Given the description of an element on the screen output the (x, y) to click on. 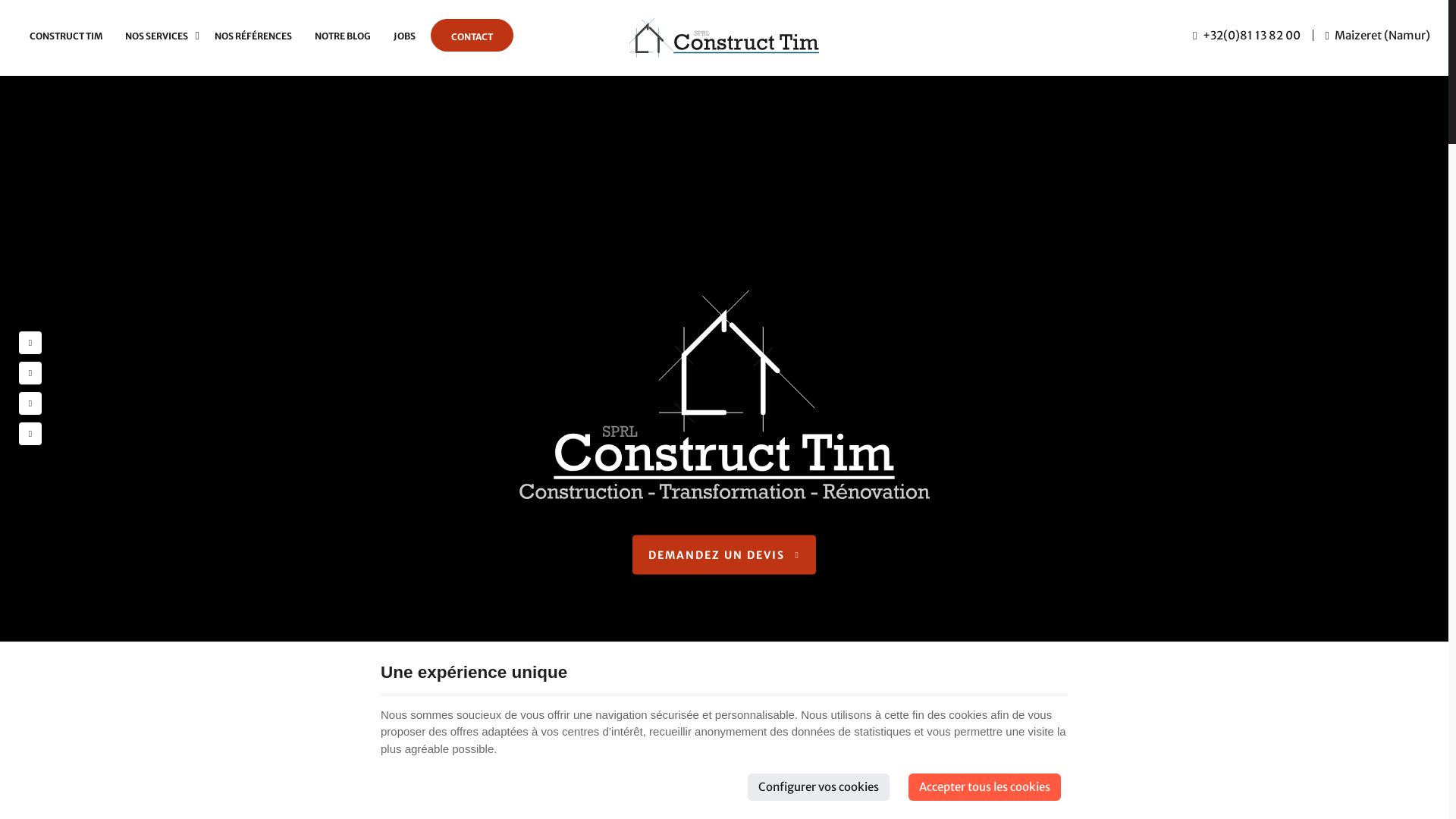
DEMANDEZ UN DEVIS Element type: text (723, 554)
Accepter tous les cookies Element type: text (984, 786)
+32(0)81 13 82 00 Element type: text (1245, 34)
NOS SERVICES Element type: text (158, 35)
CONTACT Element type: text (471, 36)
Partager ce contenu Element type: text (29, 433)
Maizeret (Namur) Element type: text (1377, 34)
Construct Tim Element type: hover (724, 37)
JOBS Element type: text (404, 35)
CONSTRUCT TIM Element type: text (65, 35)
NOTRE BLOG Element type: text (342, 35)
Configurer vos cookies Element type: text (818, 786)
